Given the description of an element on the screen output the (x, y) to click on. 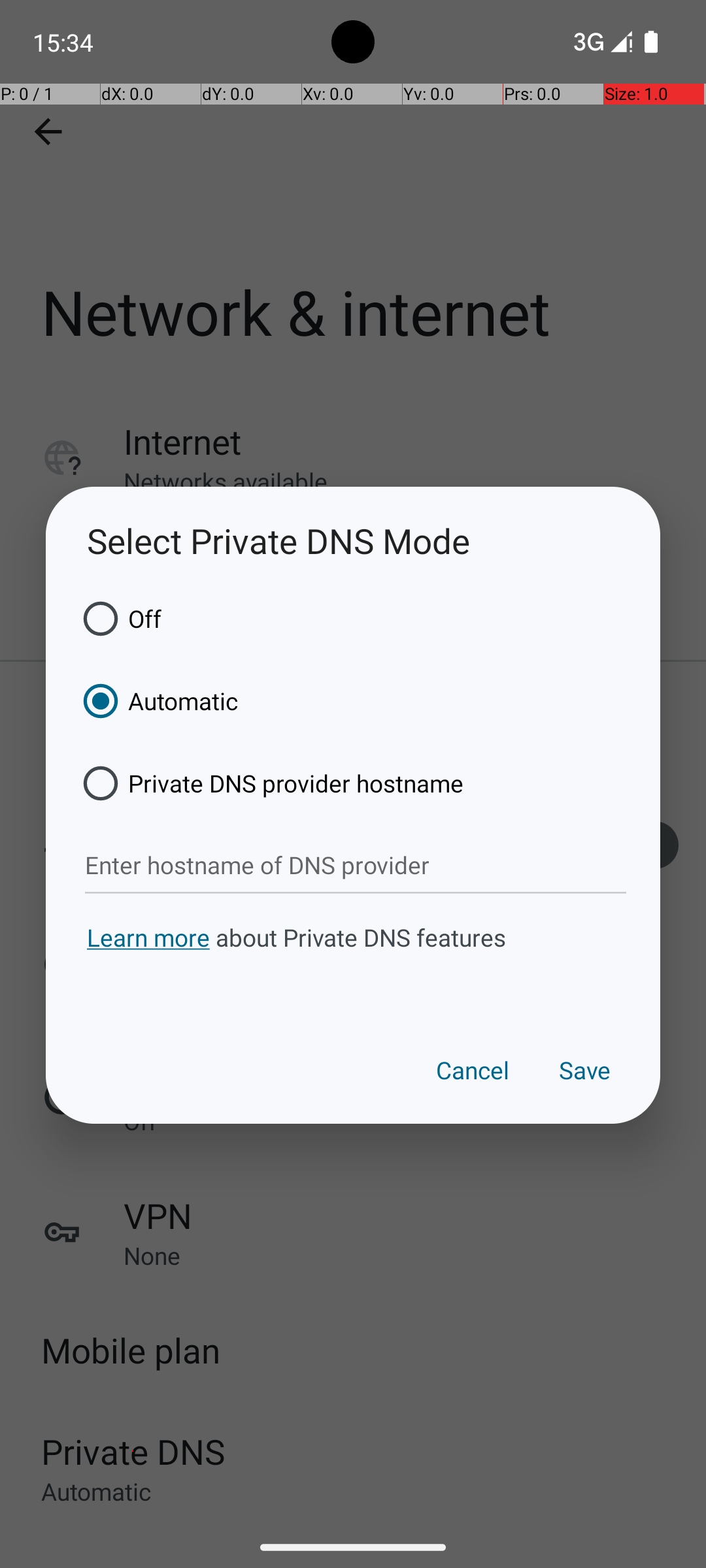
Select Private DNS Mode Element type: android.widget.TextView (352, 540)
Learn more about Private DNS features Element type: android.widget.TextView (352, 961)
Private DNS provider hostname Element type: android.widget.RadioButton (268, 783)
Enter hostname of DNS provider Element type: android.widget.EditText (355, 865)
